Given the description of an element on the screen output the (x, y) to click on. 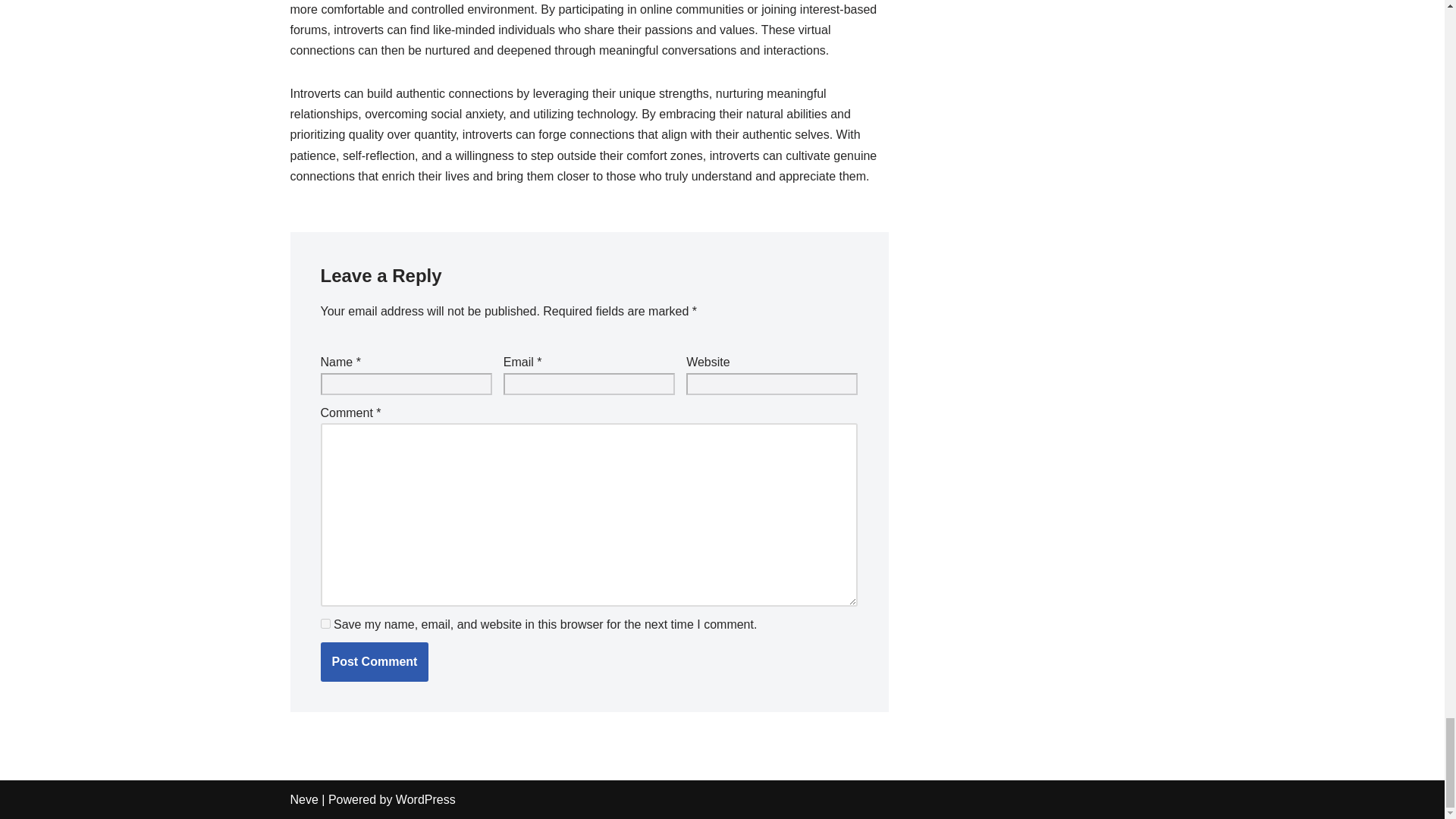
Post Comment (374, 661)
WordPress (425, 799)
Post Comment (374, 661)
Neve (303, 799)
yes (325, 623)
